Given the description of an element on the screen output the (x, y) to click on. 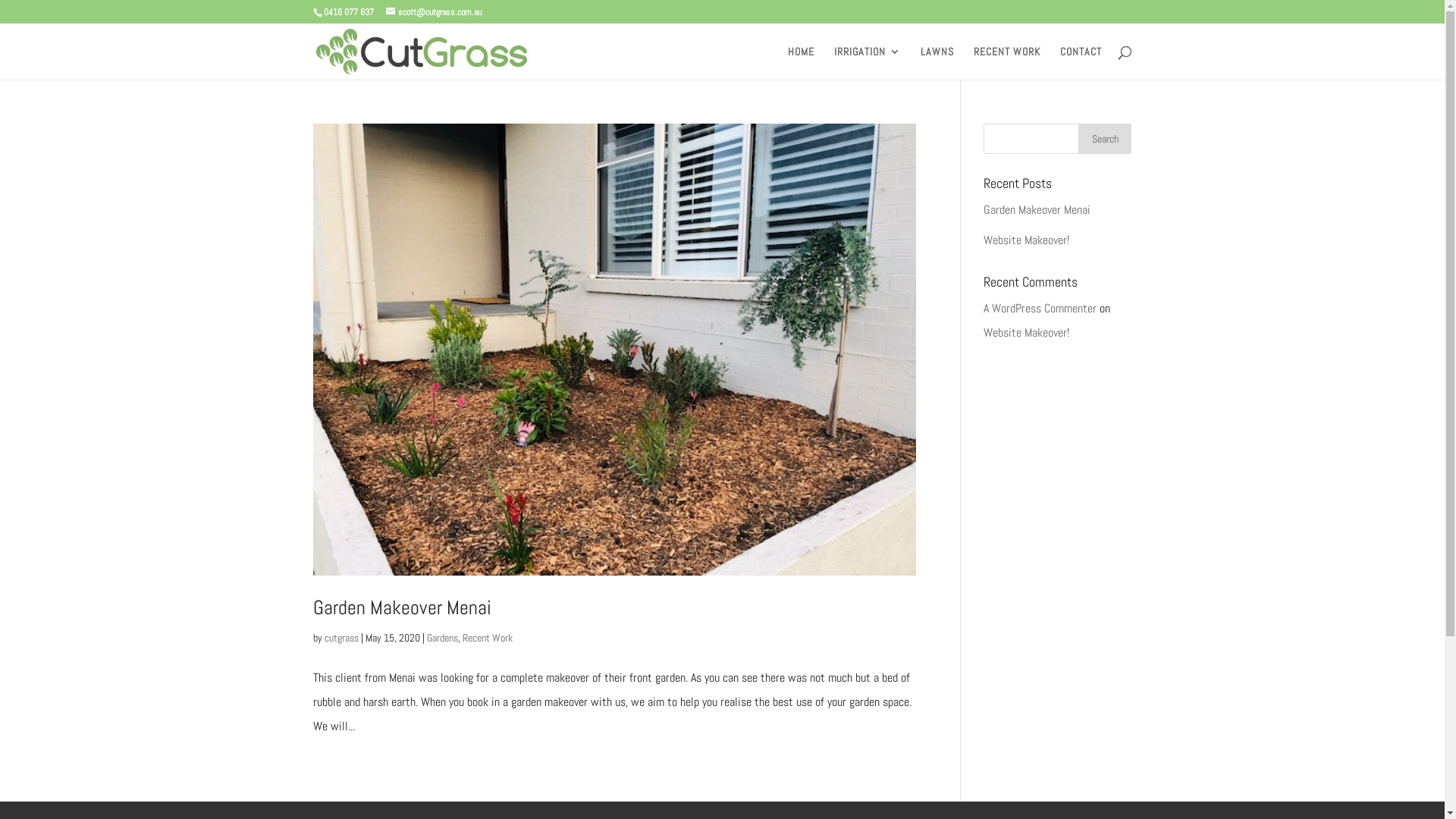
cutgrass Element type: text (341, 637)
Search Element type: text (1104, 138)
Garden Makeover Menai Element type: text (401, 607)
A WordPress Commenter Element type: text (1039, 308)
scott@cutgrass.com.au Element type: text (432, 12)
IRRIGATION Element type: text (867, 62)
Gardens Element type: text (441, 637)
Garden Makeover Menai Element type: text (1036, 209)
RECENT WORK Element type: text (1006, 62)
Website Makeover! Element type: text (1026, 239)
LAWNS Element type: text (936, 62)
CONTACT Element type: text (1080, 62)
Recent Work Element type: text (487, 637)
Website Makeover! Element type: text (1026, 332)
HOME Element type: text (800, 62)
